Given the description of an element on the screen output the (x, y) to click on. 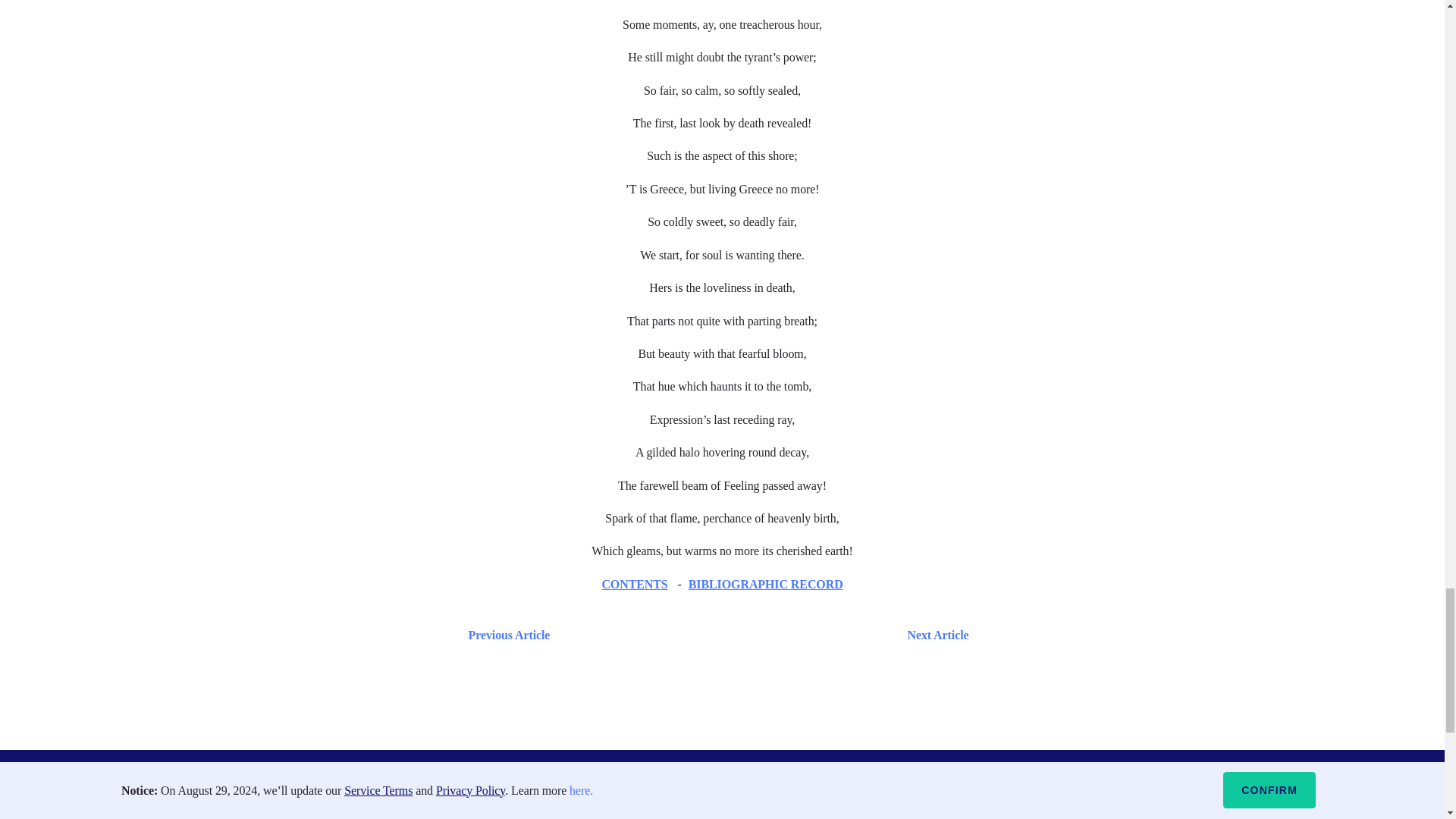
BIBLIOGRAPHIC RECORD (765, 584)
CONTENTS (633, 584)
Previous Article (505, 634)
Next Article (766, 634)
